Given the description of an element on the screen output the (x, y) to click on. 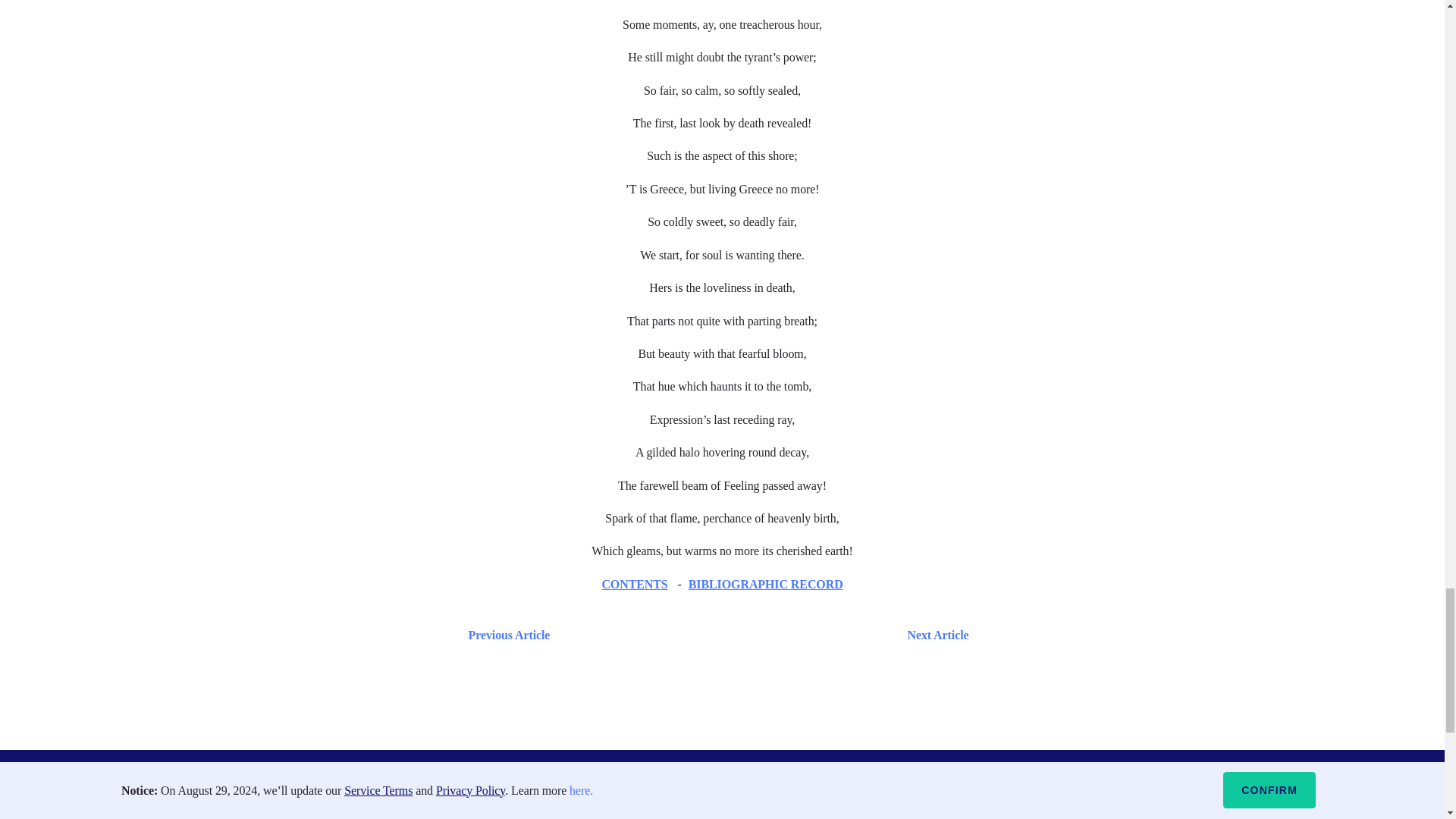
BIBLIOGRAPHIC RECORD (765, 584)
CONTENTS (633, 584)
Previous Article (505, 634)
Next Article (766, 634)
